Given the description of an element on the screen output the (x, y) to click on. 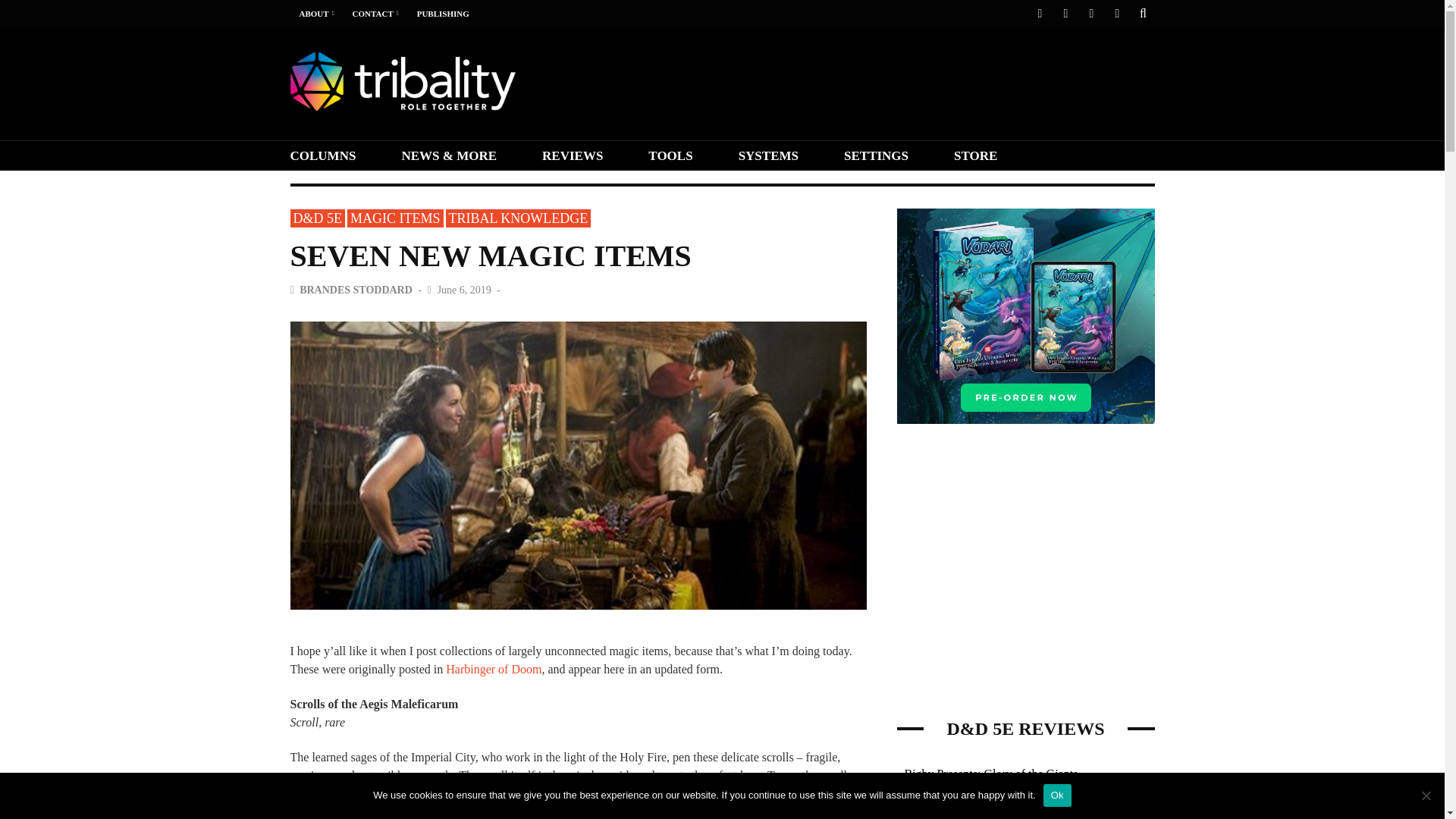
PUBLISHING (442, 13)
COLUMNS (333, 155)
CONTACT (372, 13)
ABOUT (313, 13)
Posts by Brandes Stoddard (355, 289)
Advertisement (878, 81)
